Given the description of an element on the screen output the (x, y) to click on. 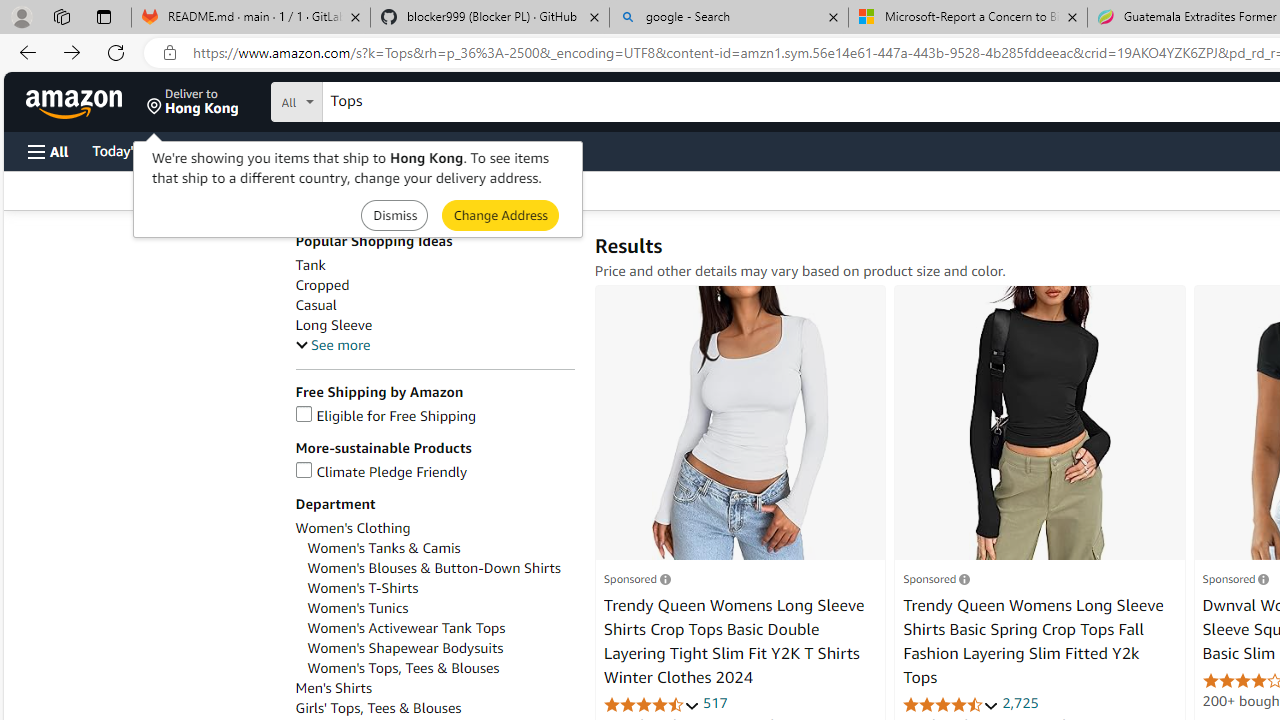
Cropped (434, 285)
4.3 out of 5 stars (651, 704)
Open Menu (48, 151)
Women's Tanks & Camis (383, 548)
Eligible for Free Shipping (434, 416)
Deliver to Hong Kong (193, 101)
Women's Tanks & Camis (440, 548)
Men's Shirts (333, 687)
